Given the description of an element on the screen output the (x, y) to click on. 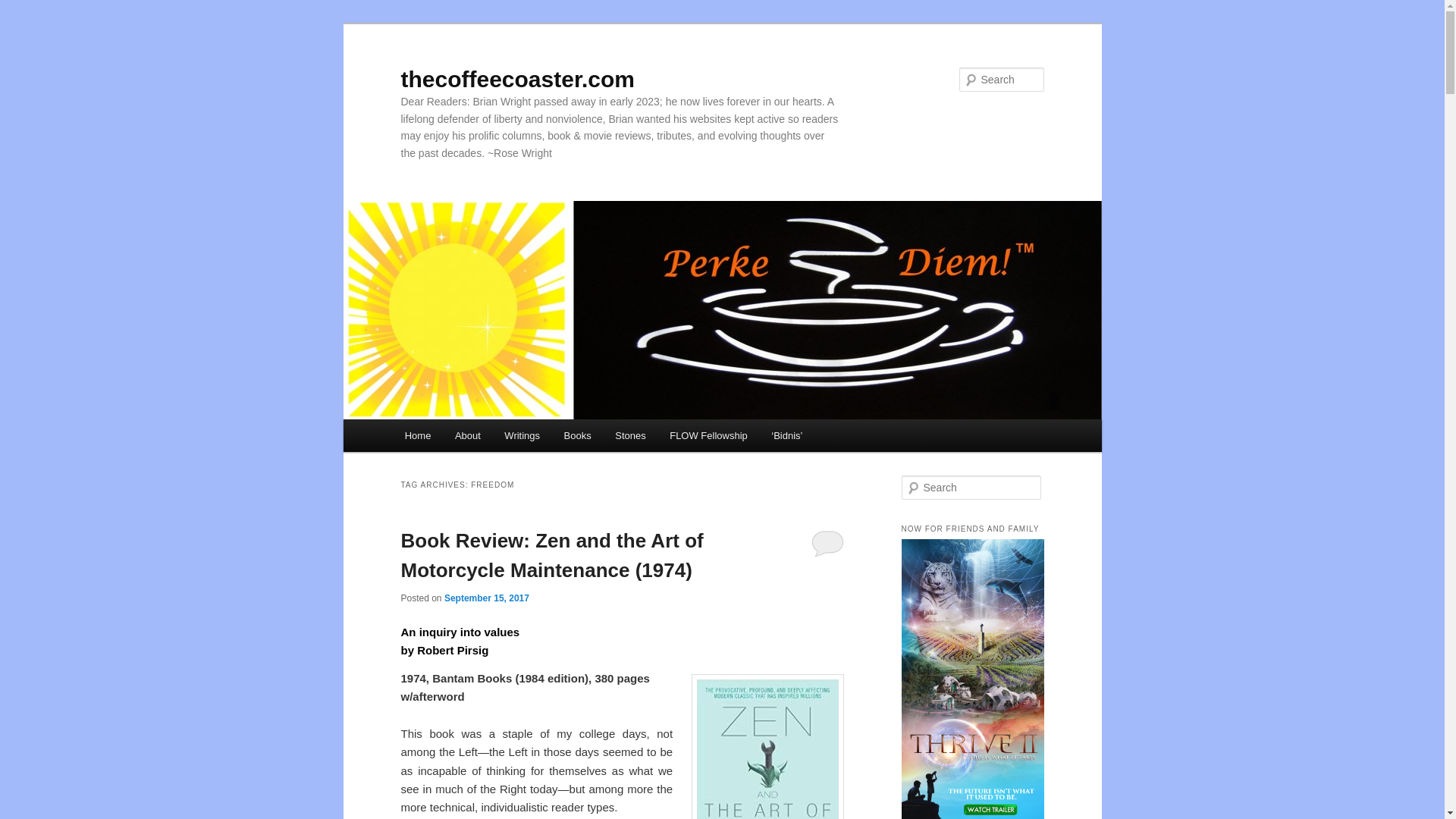
Writings (522, 435)
21:34 (486, 597)
Search (24, 8)
Stones (630, 435)
thecoffeecoaster.com (516, 78)
FLOW Fellowship (708, 435)
Books (577, 435)
September 15, 2017 (486, 597)
Home (417, 435)
